Given the description of an element on the screen output the (x, y) to click on. 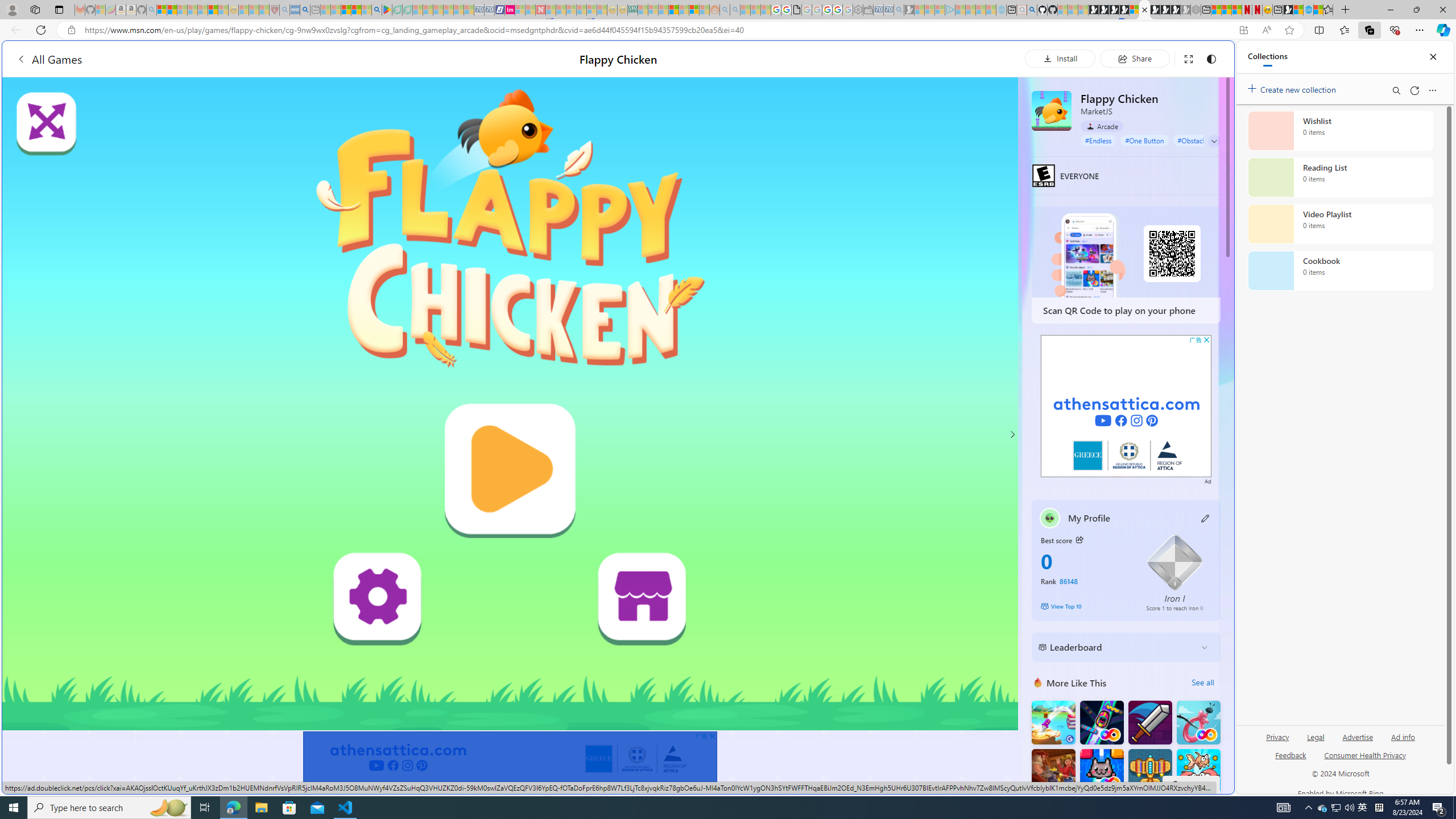
Class: button edit-icon (1205, 517)
View Top 10 (1085, 605)
Bumper Car FRVR (1101, 722)
Share (1134, 58)
Kitten Force FRVR (1101, 770)
Class: control (1214, 140)
